Given the description of an element on the screen output the (x, y) to click on. 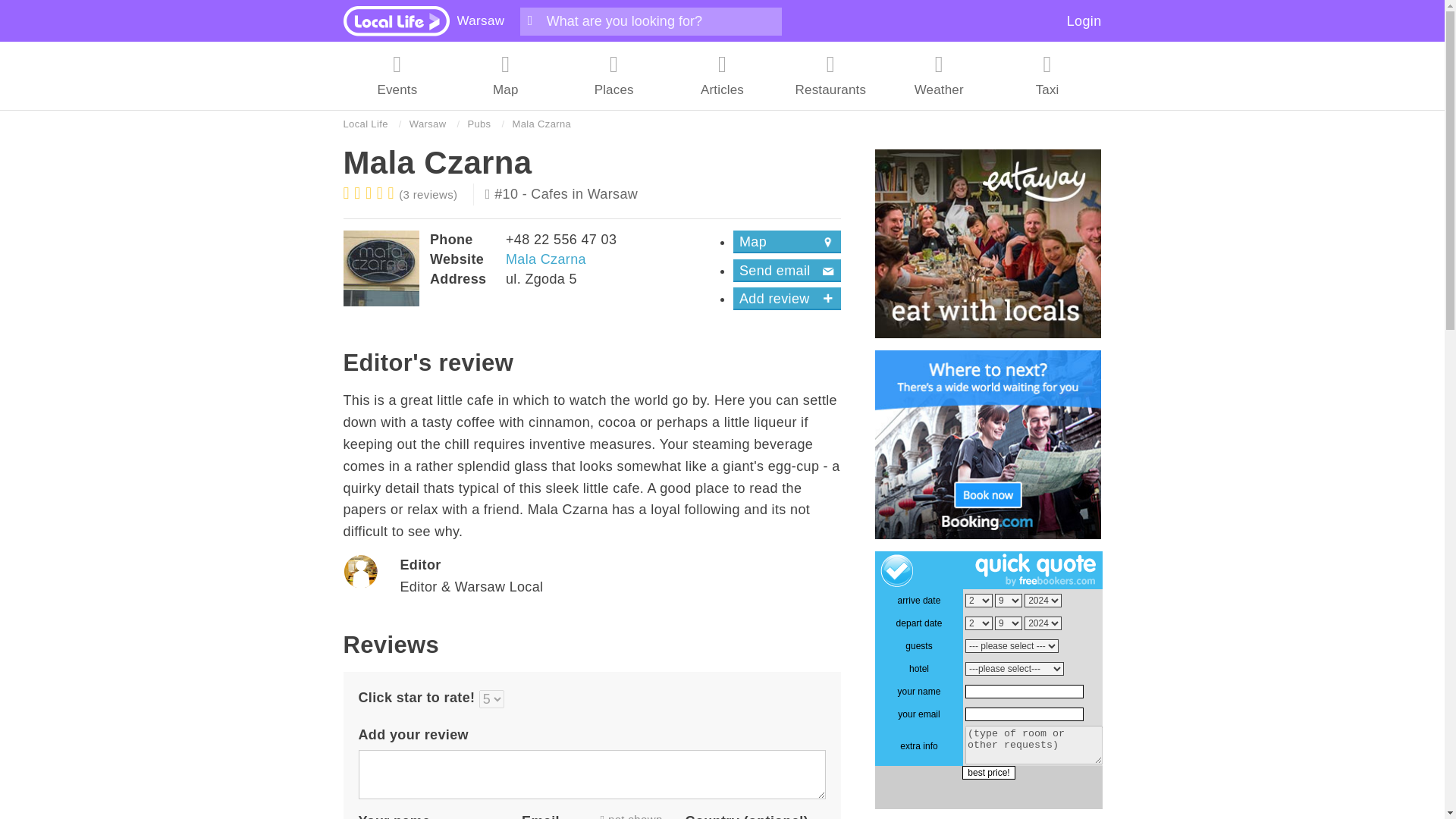
Mala Czarna (545, 258)
Local Life (364, 124)
Login (1084, 20)
Add review (787, 298)
Pubs (478, 124)
Send email (787, 270)
Restaurants (830, 75)
Warsaw (427, 124)
Warsaw (480, 20)
Map (787, 241)
